Given the description of an element on the screen output the (x, y) to click on. 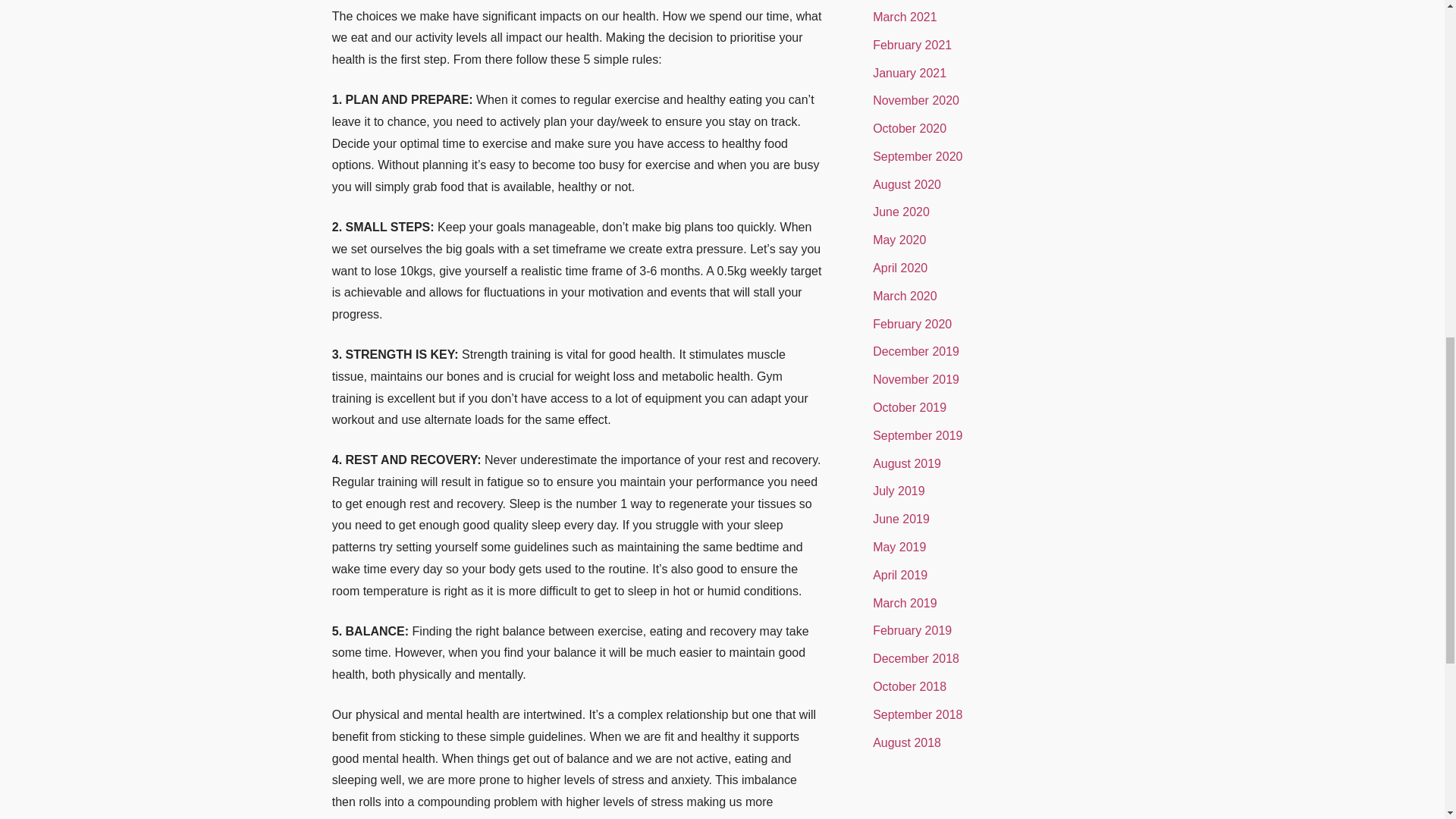
May 2020 (899, 239)
September 2020 (917, 155)
April 2020 (899, 267)
February 2021 (912, 44)
January 2021 (909, 72)
October 2020 (909, 128)
August 2020 (906, 184)
November 2020 (915, 100)
June 2020 (901, 211)
March 2021 (904, 16)
